Given the description of an element on the screen output the (x, y) to click on. 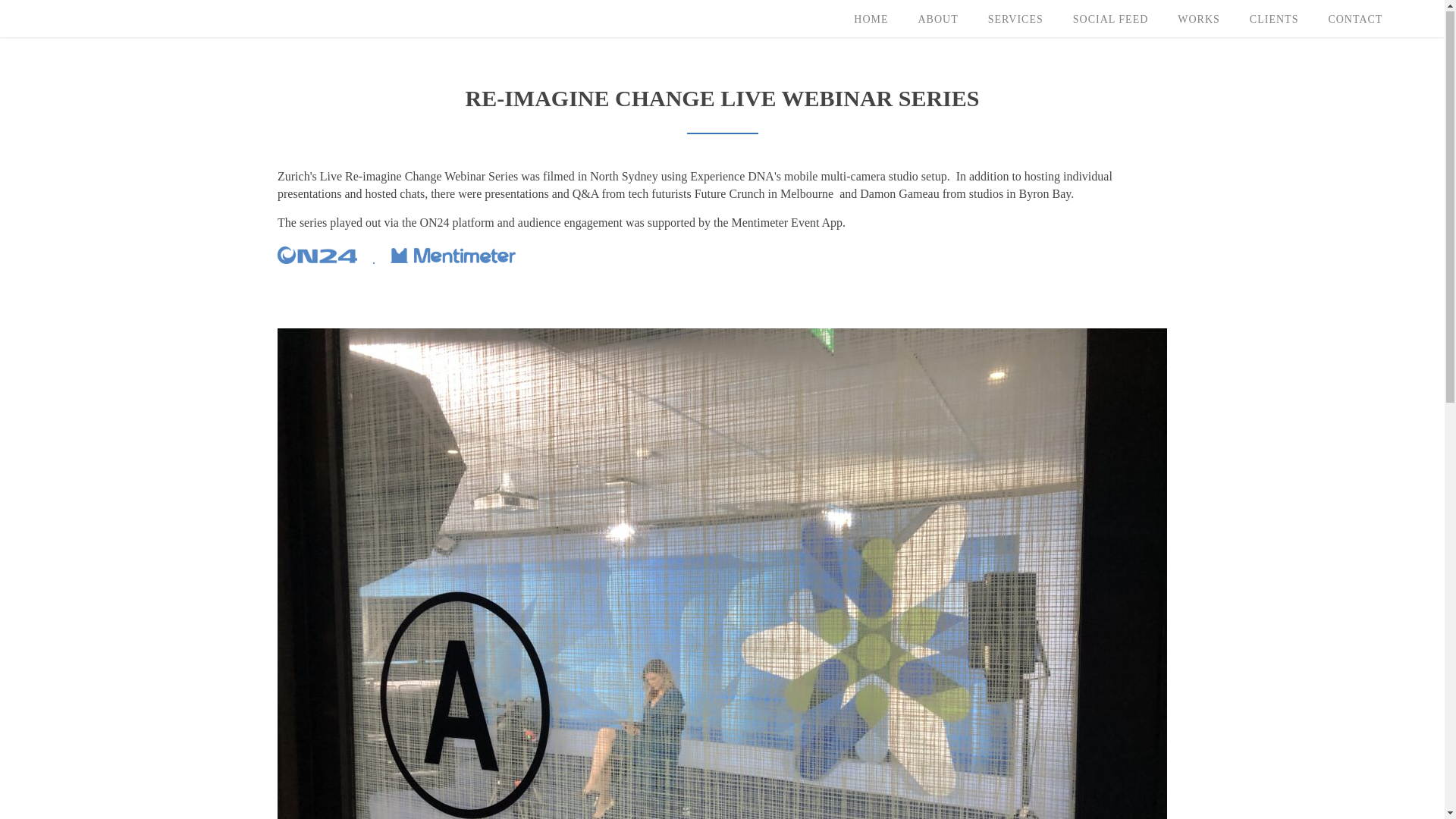
ABOUT Element type: text (936, 20)
SOCIAL FEED Element type: text (1110, 20)
CONTACT Element type: text (1353, 20)
.      Element type: text (333, 260)
CLIENTS Element type: text (1273, 20)
HOME Element type: text (869, 20)
SERVICES Element type: text (1014, 20)
WORKS Element type: text (1197, 20)
